Given the description of an element on the screen output the (x, y) to click on. 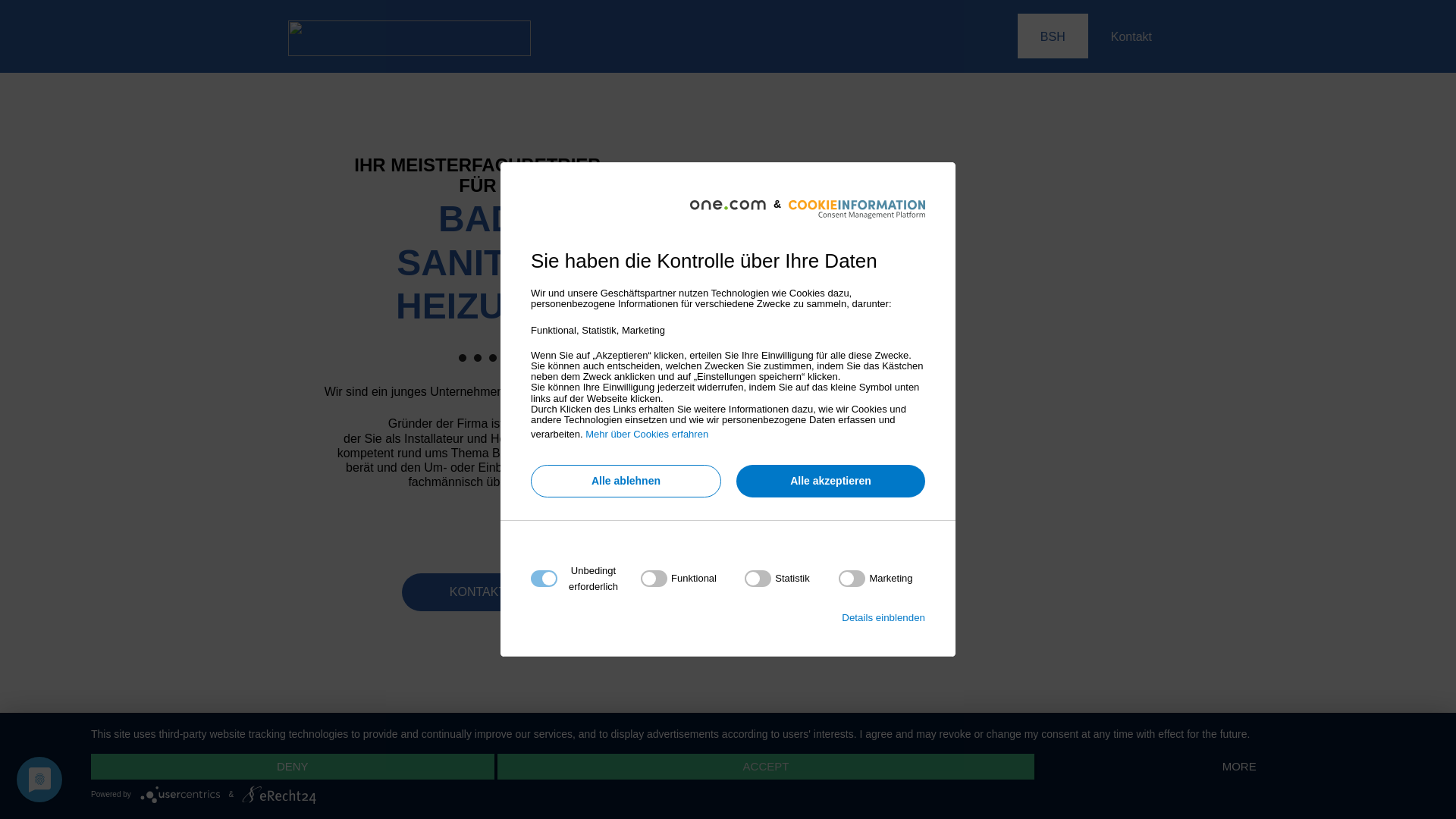
Unbedingt erforderlich Element type: text (723, 671)
ACCEPT Element type: text (766, 766)
Alle akzeptieren Element type: text (830, 480)
on Element type: text (875, 578)
BSH Element type: text (1052, 35)
Alle ablehnen Element type: text (625, 480)
on Element type: text (776, 578)
Funktional Element type: text (723, 777)
on Element type: text (678, 578)
MORE Element type: text (1238, 766)
Details einblenden Element type: text (883, 617)
Kontakt Element type: text (1131, 35)
KONTAKT Element type: text (477, 592)
DENY Element type: text (292, 766)
